Given the description of an element on the screen output the (x, y) to click on. 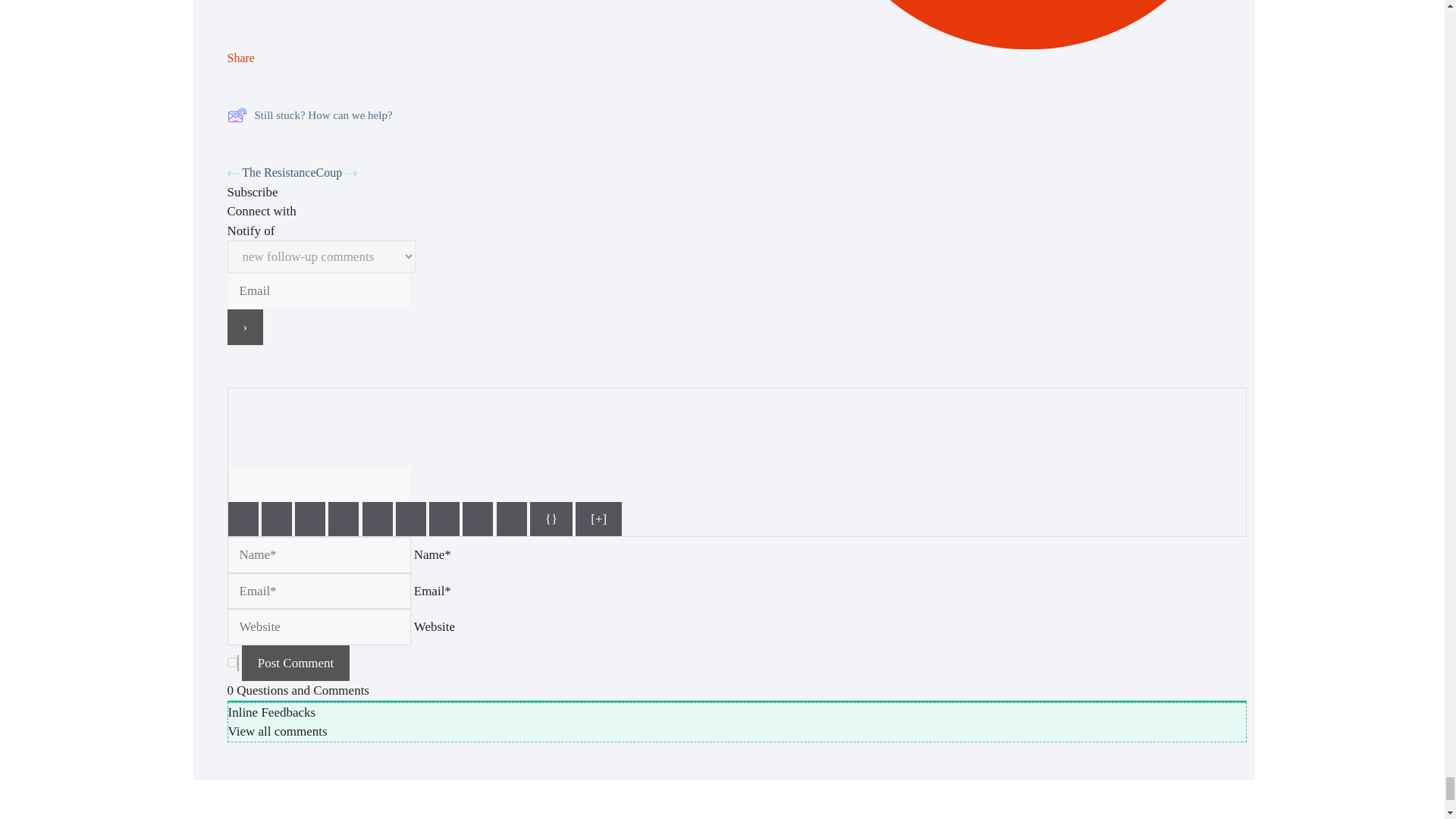
Post Comment (295, 662)
comment (232, 661)
